Given the description of an element on the screen output the (x, y) to click on. 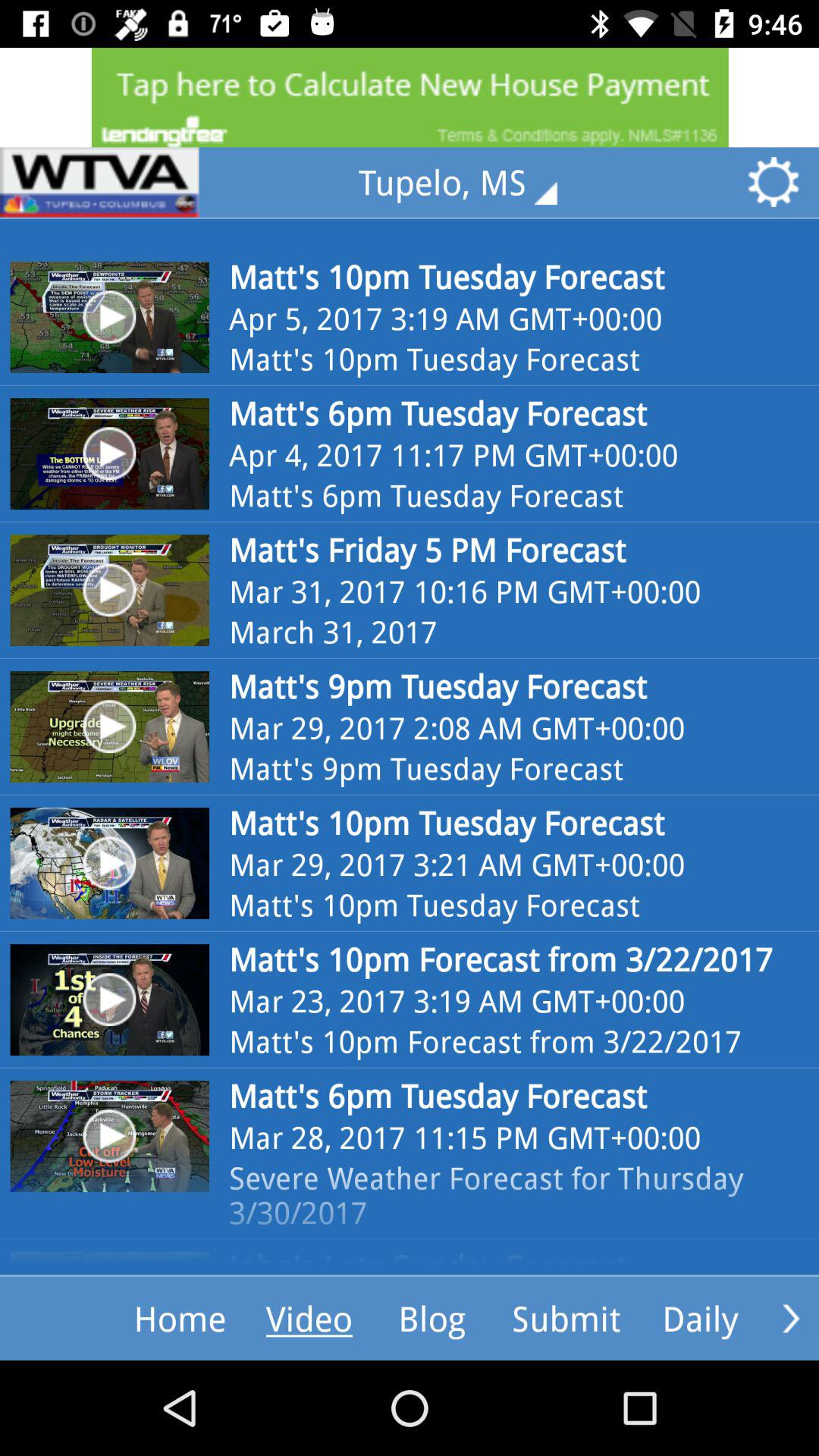
select the icon to the left of tupelo, ms (99, 182)
